Given the description of an element on the screen output the (x, y) to click on. 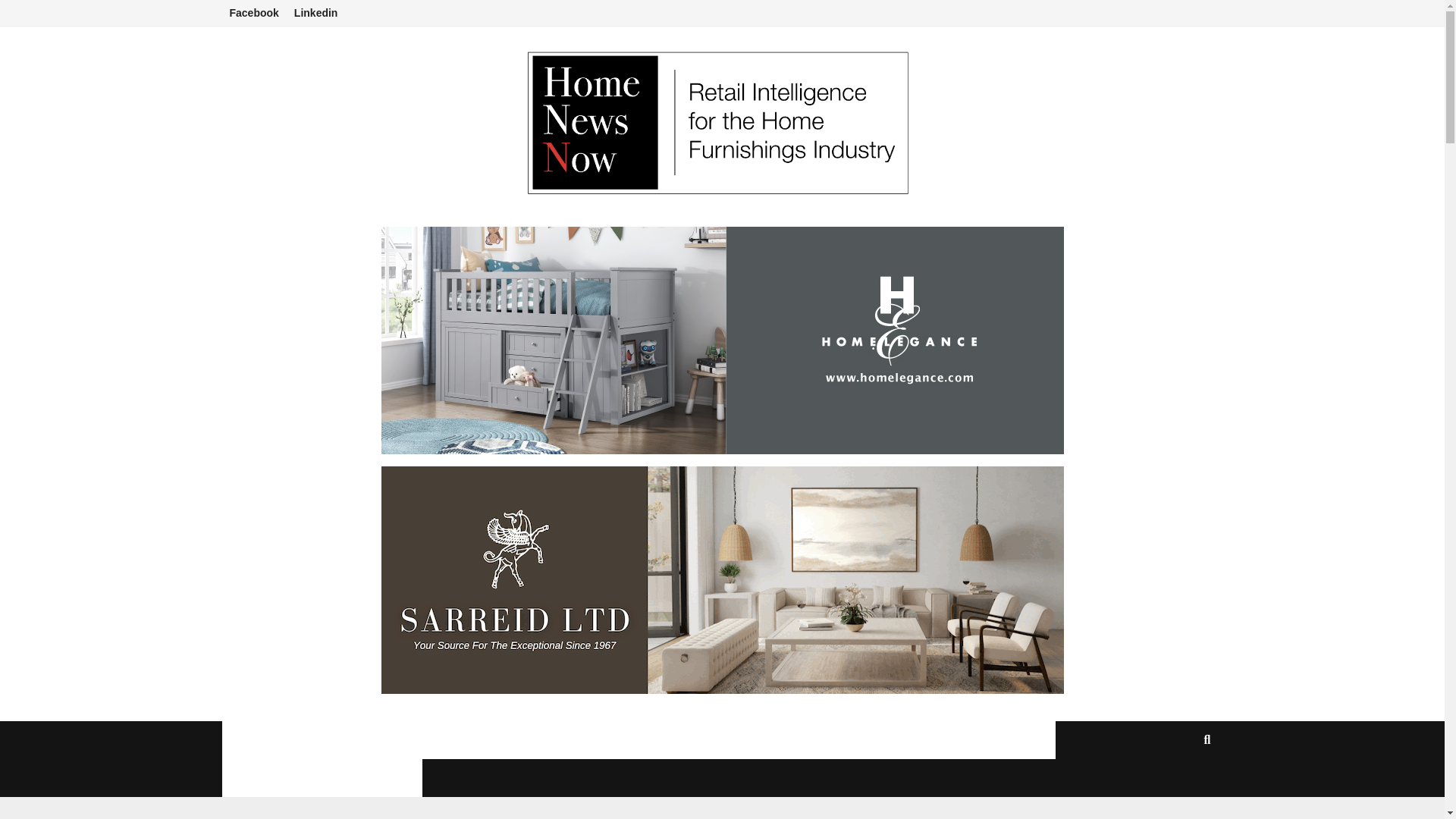
HNN 125 (436, 740)
ADVERTISE (765, 740)
SUBSCRIBE (1006, 740)
LATEST NEWS (336, 740)
CASUAL NEWS NOW (639, 740)
Linkedin (316, 13)
CONSUMER INSIGHTS NOW (321, 777)
ABOUT US (522, 740)
DECOR NEWS NOW (888, 740)
HOME (251, 740)
